Given the description of an element on the screen output the (x, y) to click on. 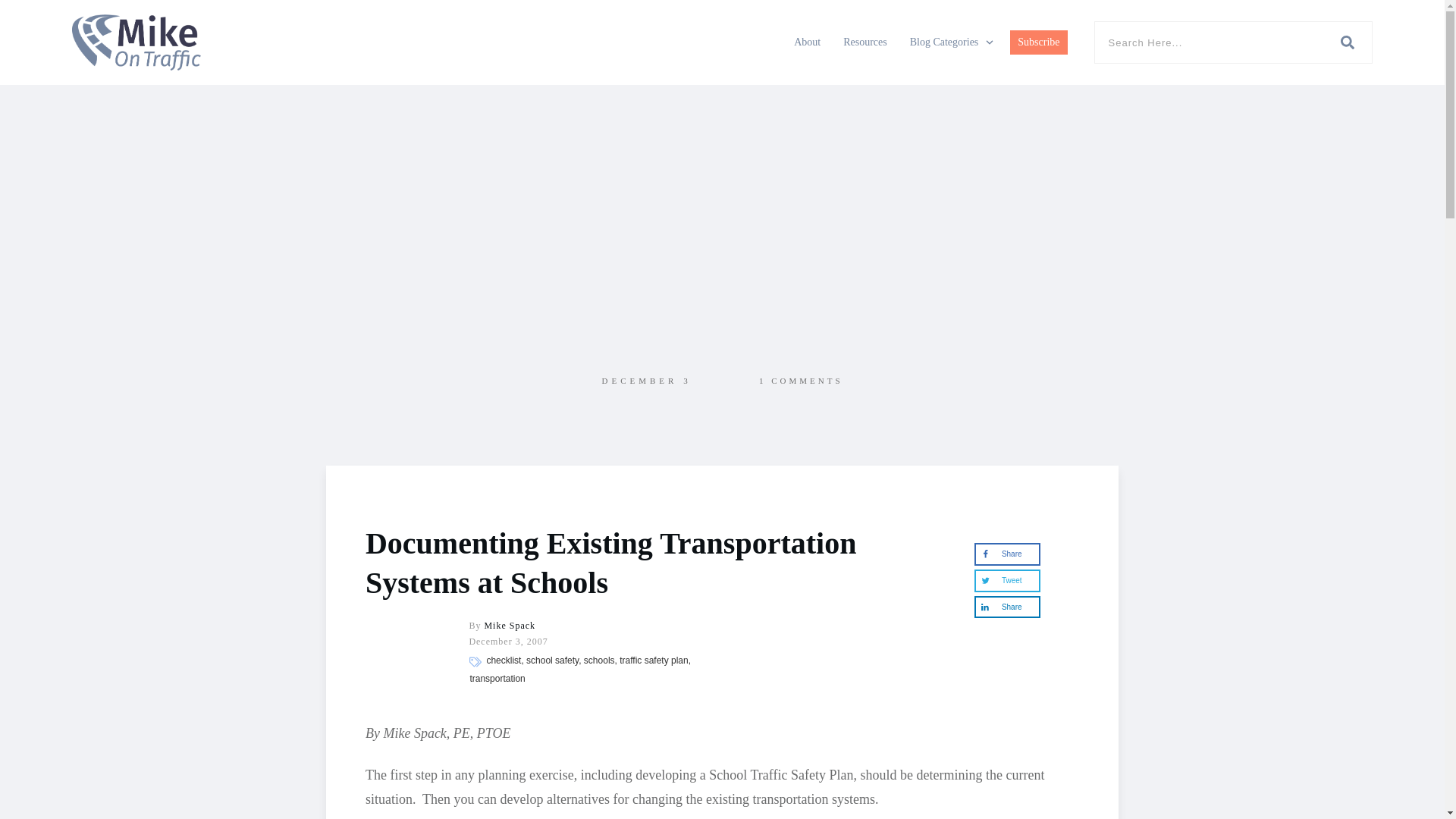
About (807, 42)
Share (1006, 607)
Documenting Existing Transportation Systems at Schools (610, 562)
Tweet (1006, 580)
Subscribe (1038, 42)
Resources (864, 42)
Blog Categories (952, 42)
Documenting Existing Transportation Systems at Schools (610, 562)
Share (1006, 554)
